Given the description of an element on the screen output the (x, y) to click on. 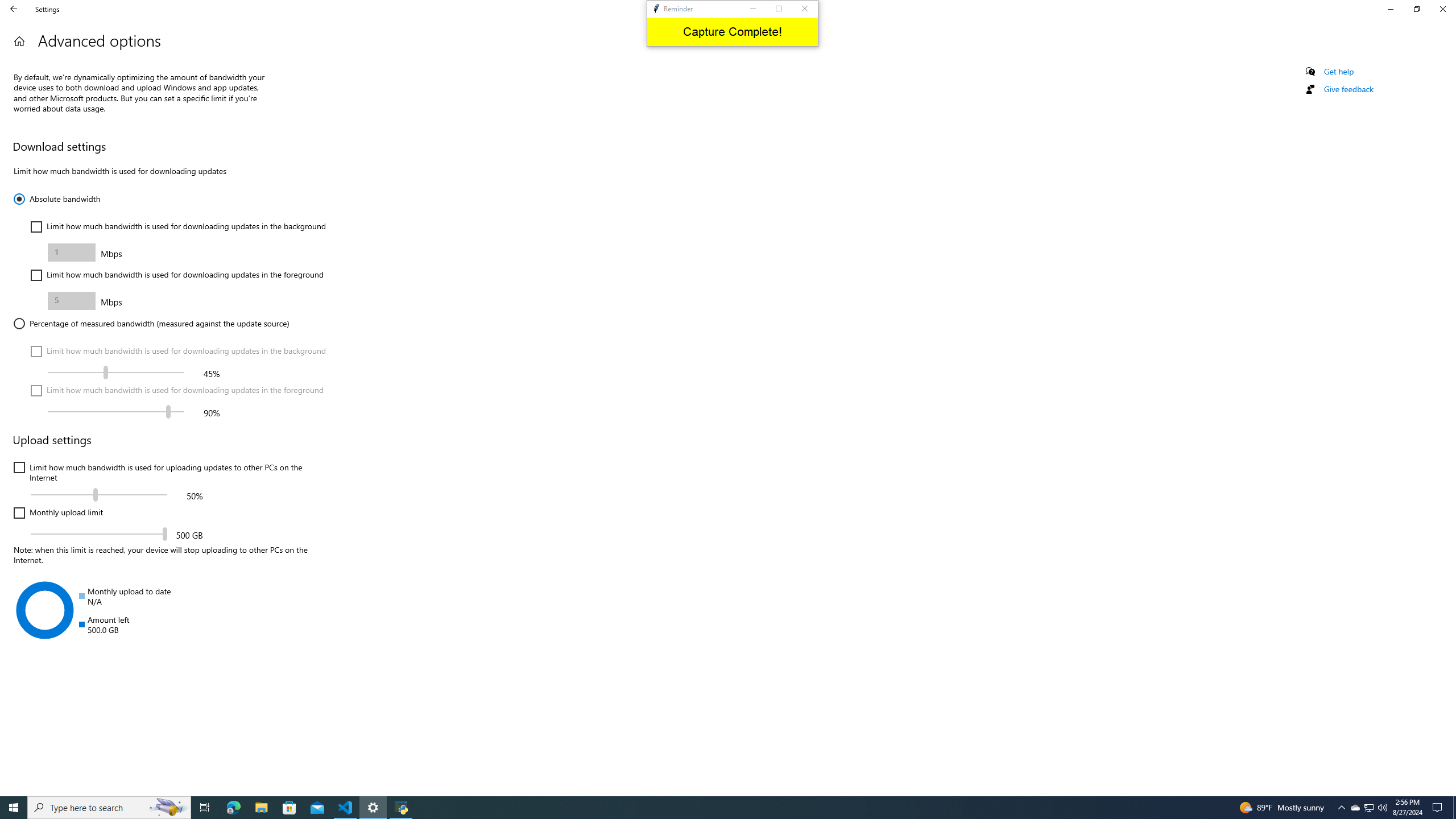
Back (13, 9)
Q2790: 100% (1382, 807)
Task View (204, 807)
Search highlights icon opens search home window (167, 807)
Start (13, 807)
Show desktop (1454, 807)
Microsoft Store (289, 807)
Restore Settings (1416, 9)
Close Settings (1442, 9)
Type here to search (108, 807)
